Given the description of an element on the screen output the (x, y) to click on. 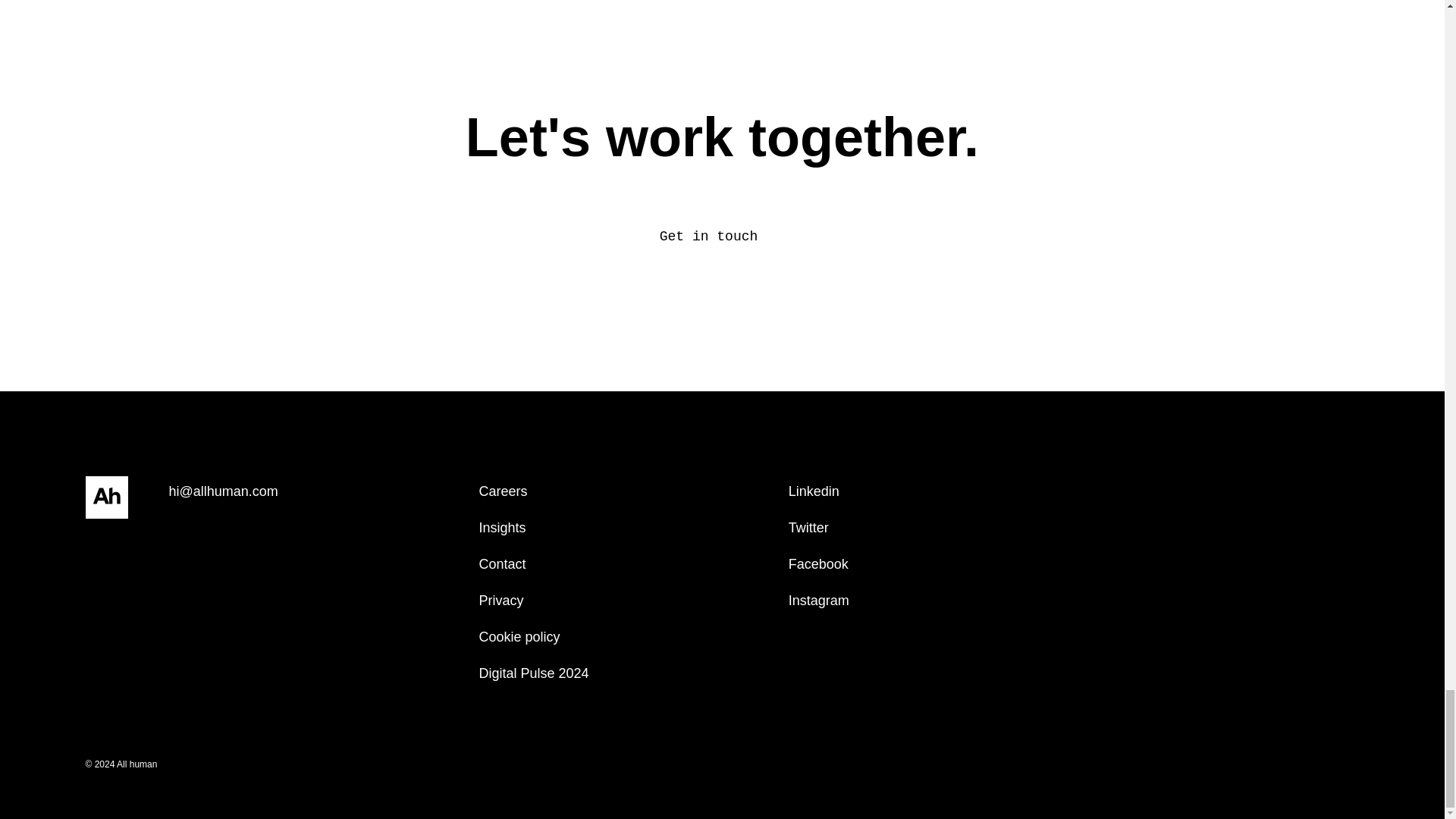
Go back to the home page (106, 498)
Cookie policy (519, 637)
Privacy (500, 600)
Instagram (818, 600)
Insights (502, 527)
Facebook (818, 564)
Get in touch (721, 236)
Contact (502, 564)
Careers (503, 491)
Linkedin (814, 491)
Digital Pulse 2024 (533, 673)
Twitter (808, 527)
